Given the description of an element on the screen output the (x, y) to click on. 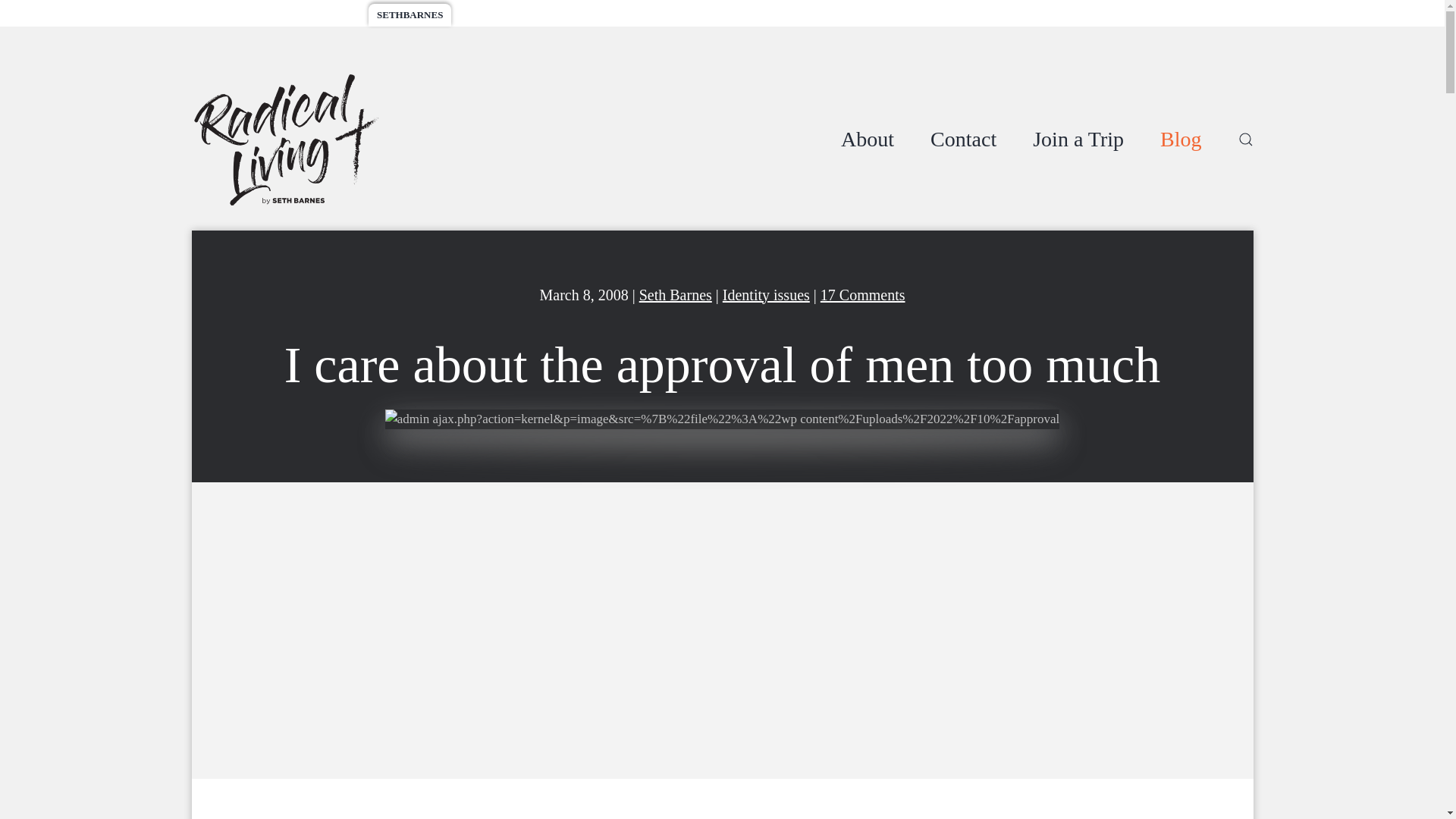
Contact (962, 139)
I care about the approval of men too much 1 (722, 419)
Identity issues (765, 294)
SPONSORSHIP (498, 15)
Join a Trip (1078, 139)
Seth Barnes (675, 294)
SETHBARNES (409, 15)
ADVENTURES (235, 15)
GIVING (573, 15)
WORLDRACE (322, 15)
